Given the description of an element on the screen output the (x, y) to click on. 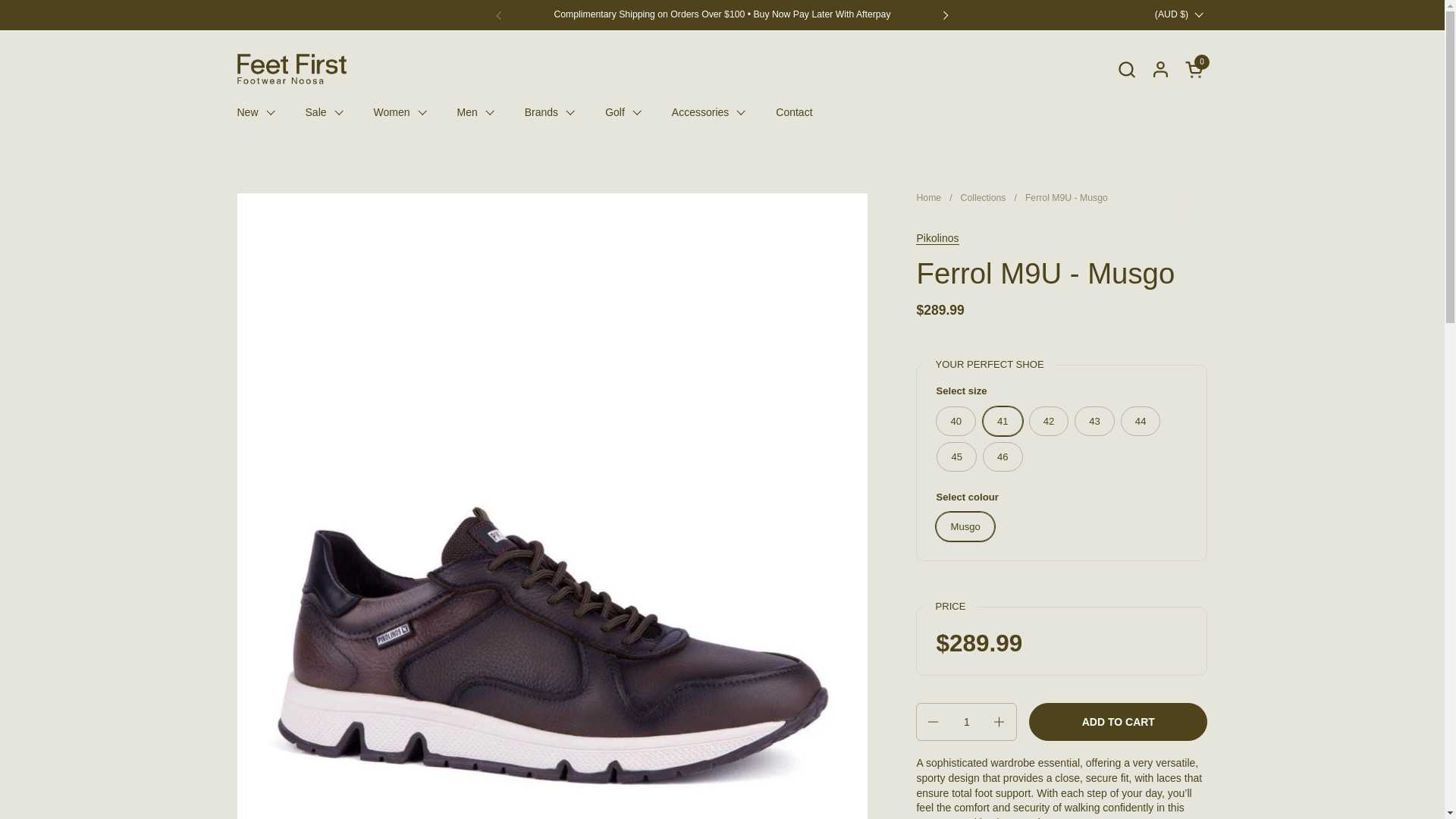
FeetFirstFootwear (1196, 67)
END OF SUMMER SALE: BUY ONE PAIR, GET ONE HALF PRICE (290, 69)
Open search (1168, 14)
Women (1125, 67)
Pikolinos (400, 111)
Brands (936, 237)
Skip to content (549, 111)
Sale (1196, 67)
